Given the description of an element on the screen output the (x, y) to click on. 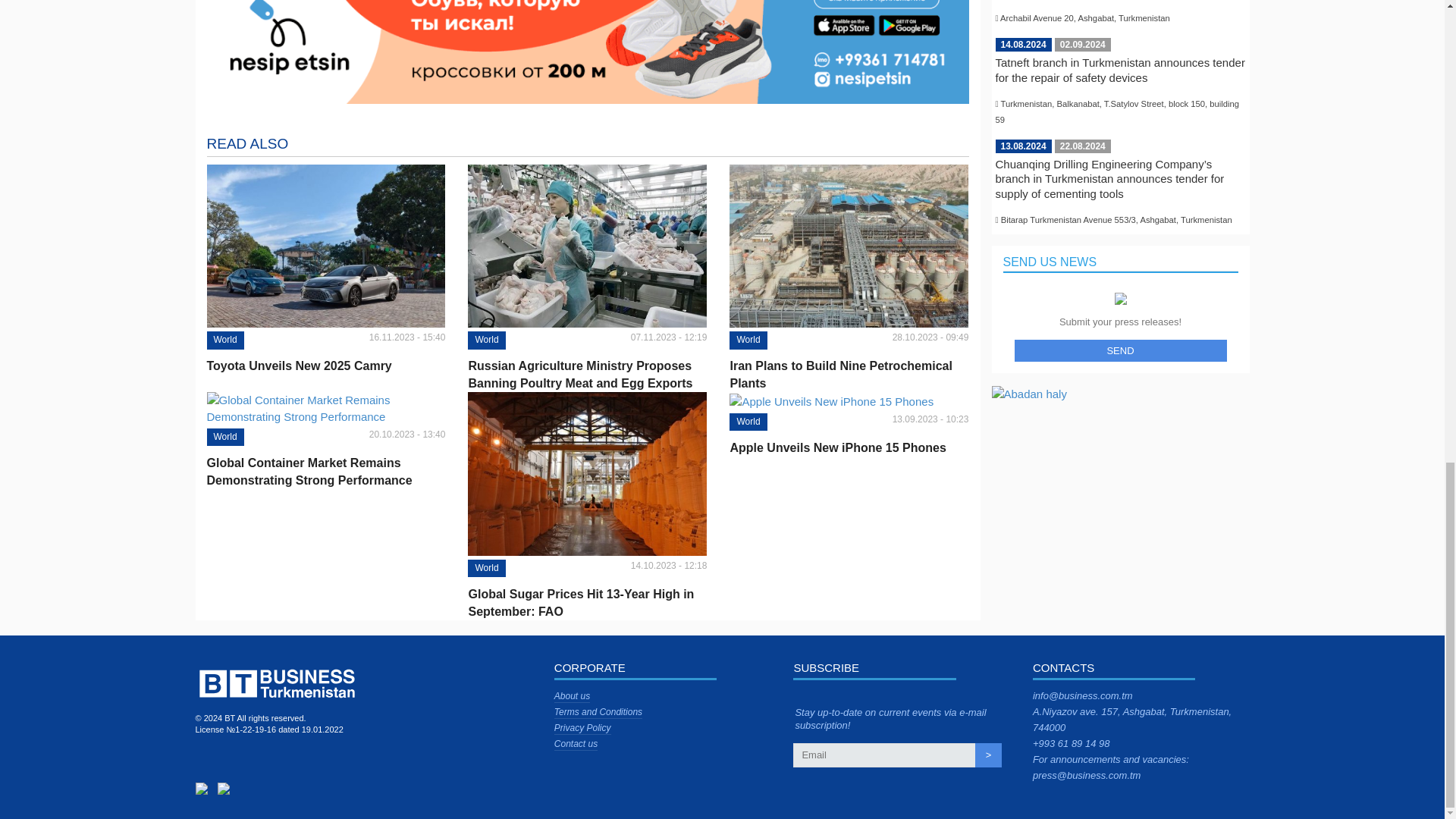
Toyota Unveils New 2025 Camry (325, 365)
Apple Unveils New iPhone 15 Phones (848, 447)
World (224, 339)
Global Sugar Prices Hit 13-Year High in September: FAO (586, 602)
World (486, 568)
World (224, 436)
Iran Plans to Build Nine Petrochemical Plants (848, 374)
